Given the description of an element on the screen output the (x, y) to click on. 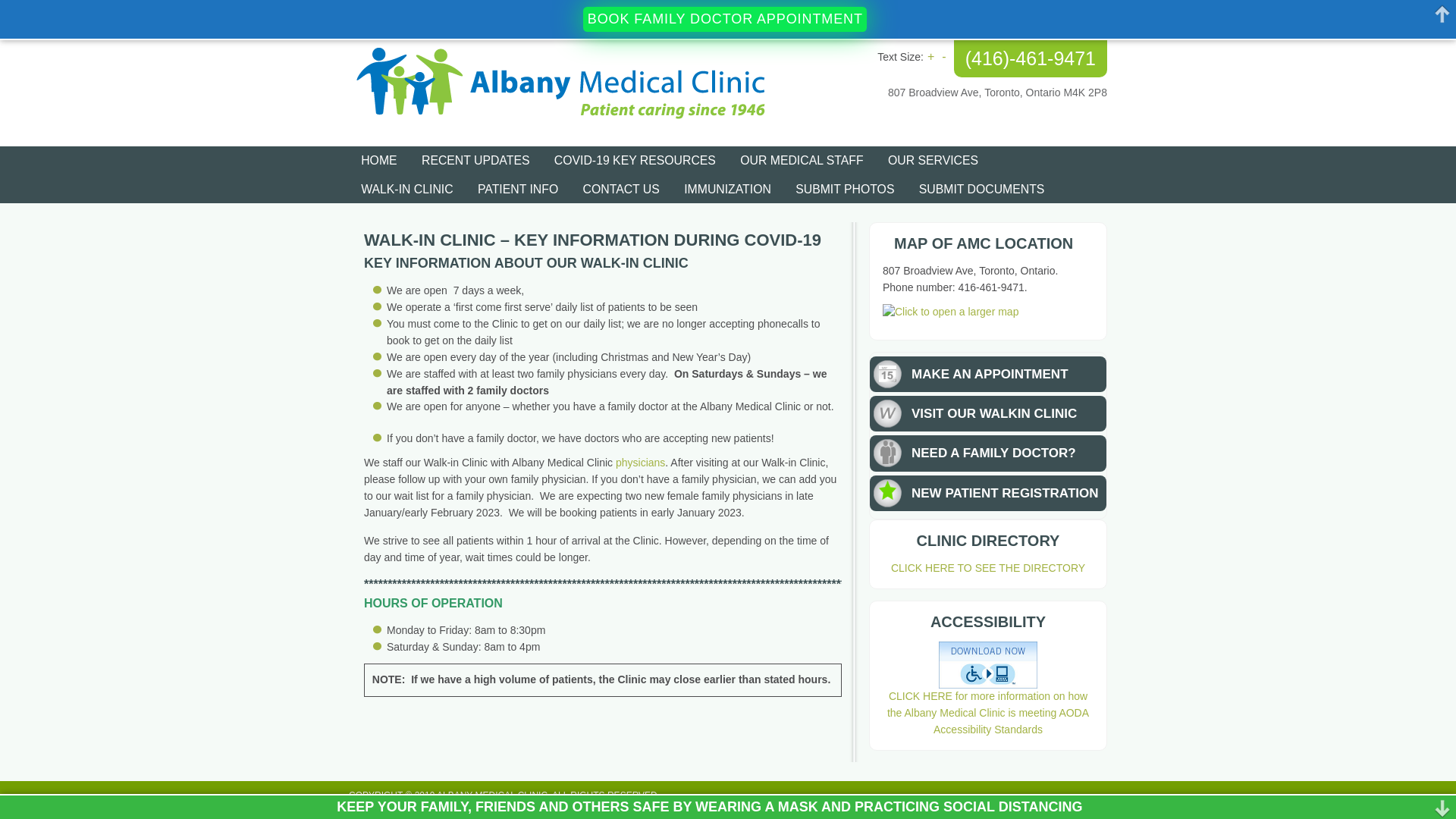
RECENT UPDATES Element type: text (475, 160)
SUBMIT DOCUMENTS Element type: text (981, 189)
Click to open a larger map Element type: hover (950, 311)
Click to open a larger map Element type: hover (950, 312)
ALBANY MEDICAL CLINIC Element type: text (583, 92)
PATIENT INFO Element type: text (518, 189)
VISIT OUR WALKIN CLINIC Element type: text (993, 413)
- Element type: text (943, 56)
HOME Element type: text (378, 160)
NEED A FAMILY DOCTOR? Element type: text (993, 452)
OUR SERVICES Element type: text (932, 160)
CONTACT US Element type: text (620, 189)
NEW PATIENT REGISTRATION Element type: text (1004, 493)
MAKE AN APPOINTMENT Element type: text (989, 374)
CLICK HERE TO SEE THE DIRECTORY Element type: text (988, 567)
+ Element type: text (930, 56)
physicians Element type: text (640, 462)
OUR MEDICAL STAFF Element type: text (801, 160)
SUBMIT PHOTOS Element type: text (844, 189)
WALK-IN CLINIC Element type: text (406, 189)
COVID-19 KEY RESOURCES Element type: text (635, 160)
IMMUNIZATION Element type: text (727, 189)
